Given the description of an element on the screen output the (x, y) to click on. 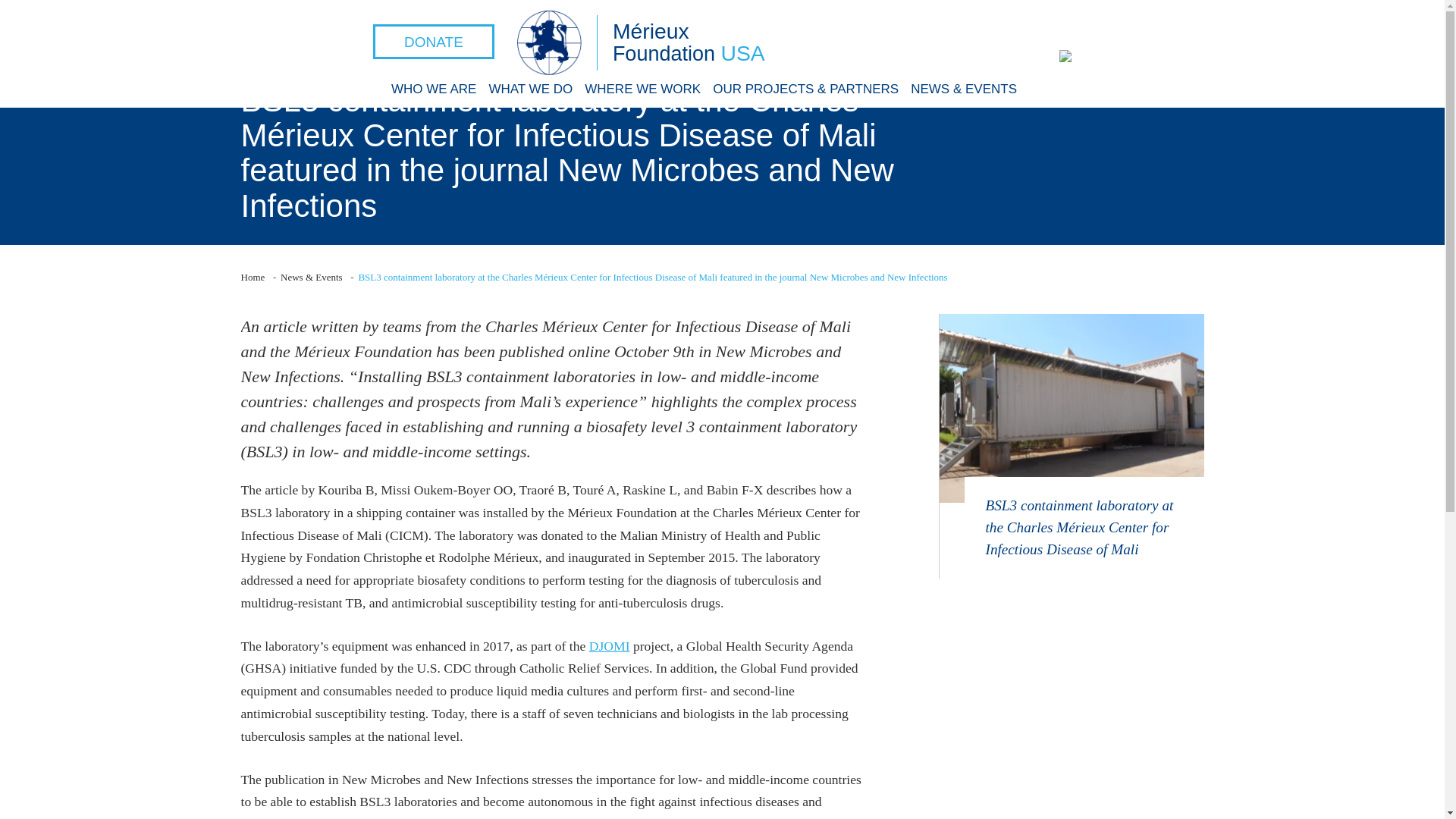
WHAT WE DO (529, 89)
WHERE WE WORK (642, 89)
Home (252, 276)
DJOMI (609, 646)
Go to homepage (252, 276)
DONATE (433, 41)
WHO WE ARE (433, 89)
